Given the description of an element on the screen output the (x, y) to click on. 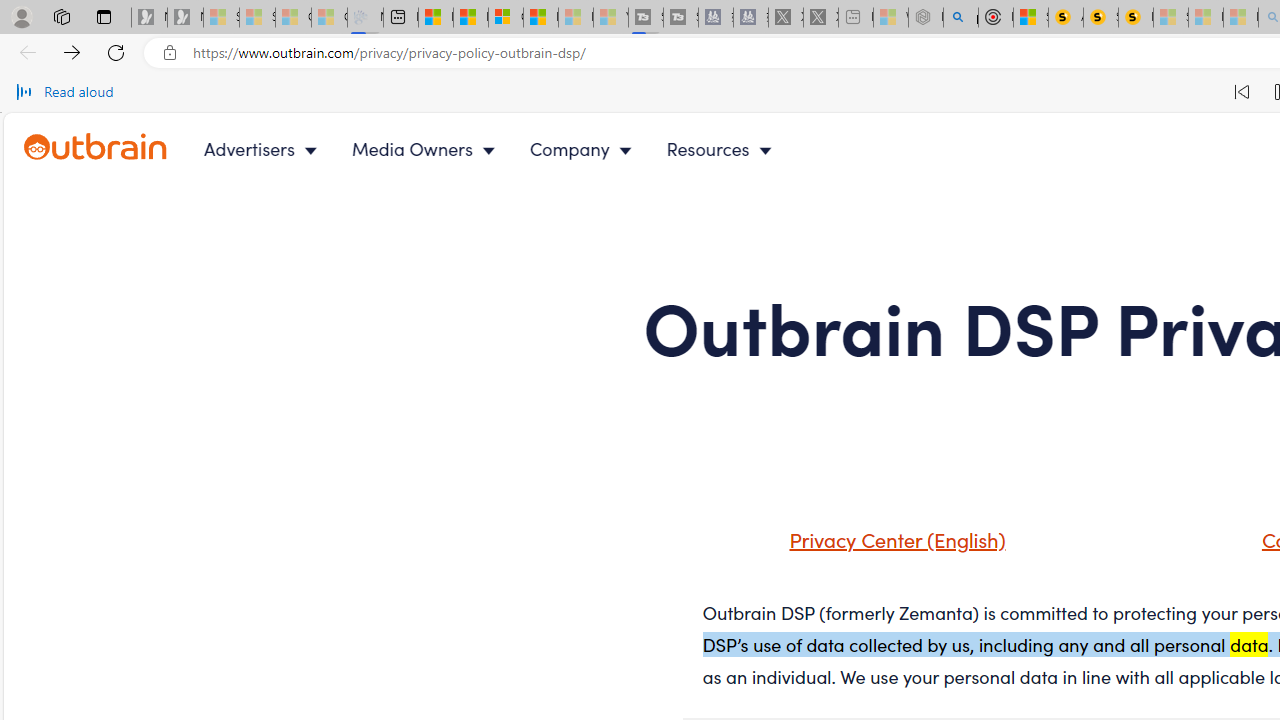
Advertisers (264, 148)
Resources (723, 148)
Read previous paragraph (1241, 92)
Michelle Starr, Senior Journalist at ScienceAlert (1135, 17)
Company (585, 148)
Outbrain logo - link to homepage (96, 147)
Forward (72, 52)
Newsletter Sign Up - Sleeping (185, 17)
